Given the description of an element on the screen output the (x, y) to click on. 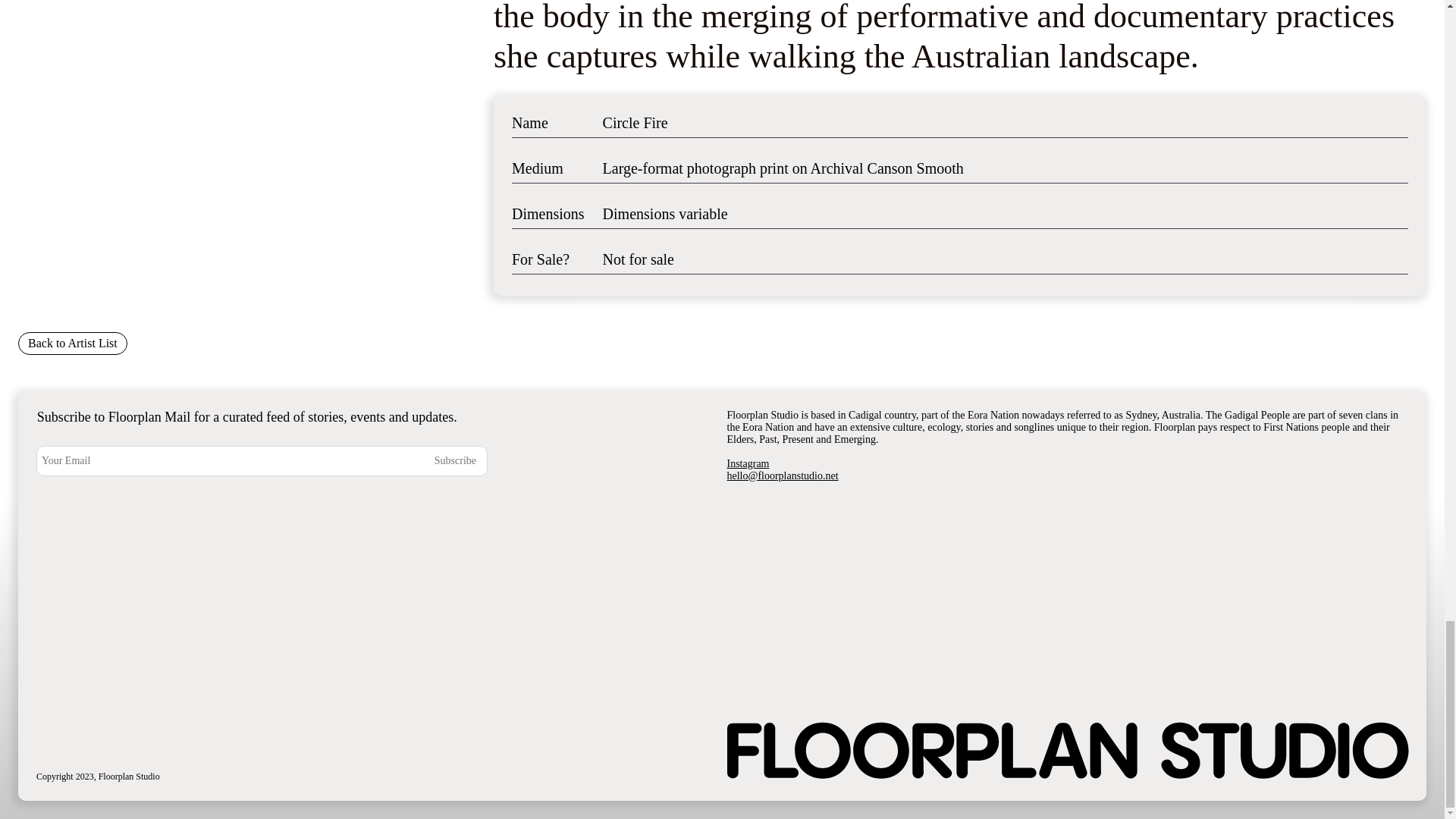
Back to Artist List (72, 343)
Instagram (747, 463)
Subscribe (432, 460)
